Given the description of an element on the screen output the (x, y) to click on. 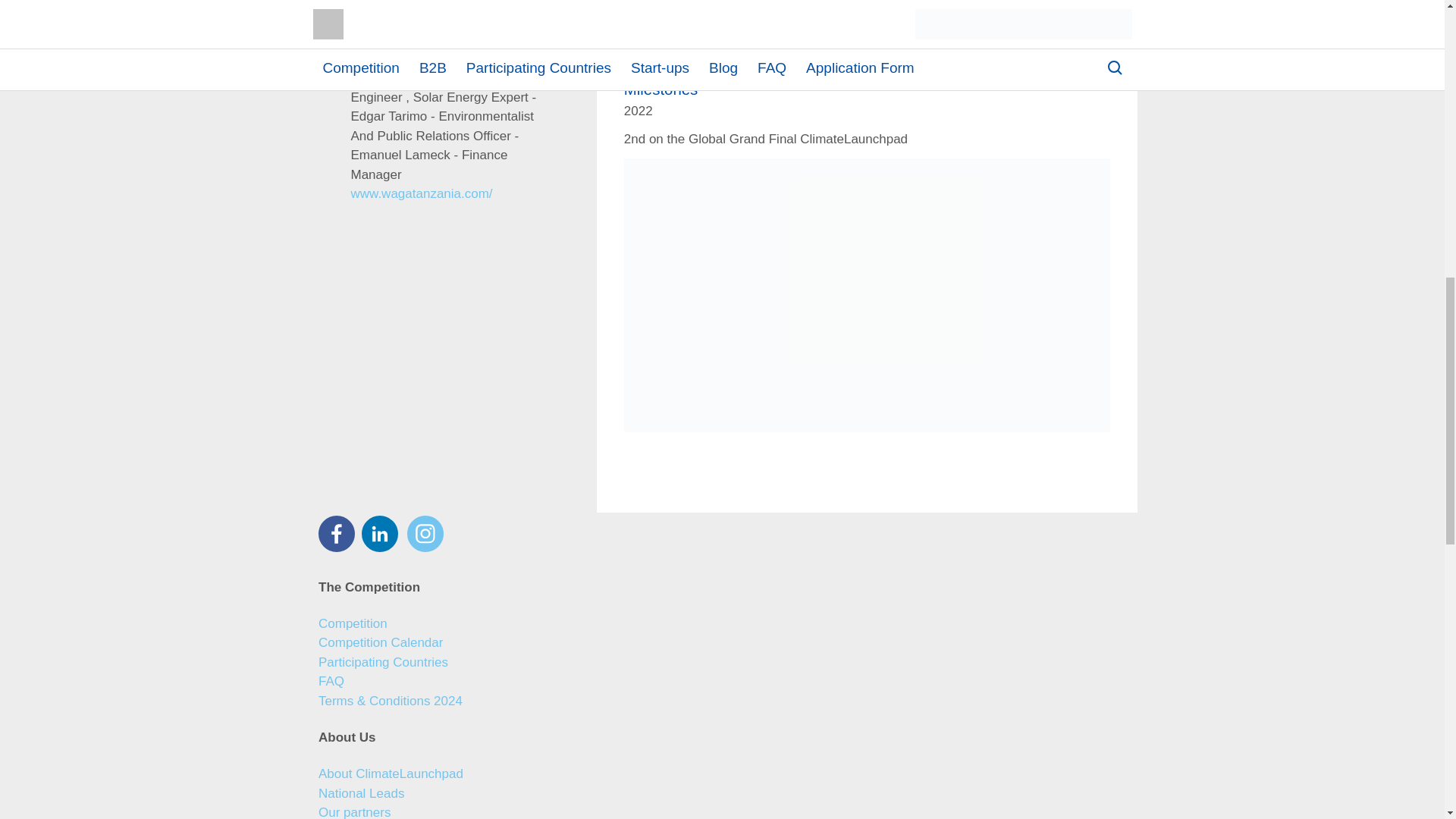
About ClimateLaunchpad (390, 773)
Competition Calendar (380, 642)
Competition (352, 623)
National Leads (361, 793)
FAQ (330, 681)
Our partners (354, 812)
Participating Countries (383, 662)
